Given the description of an element on the screen output the (x, y) to click on. 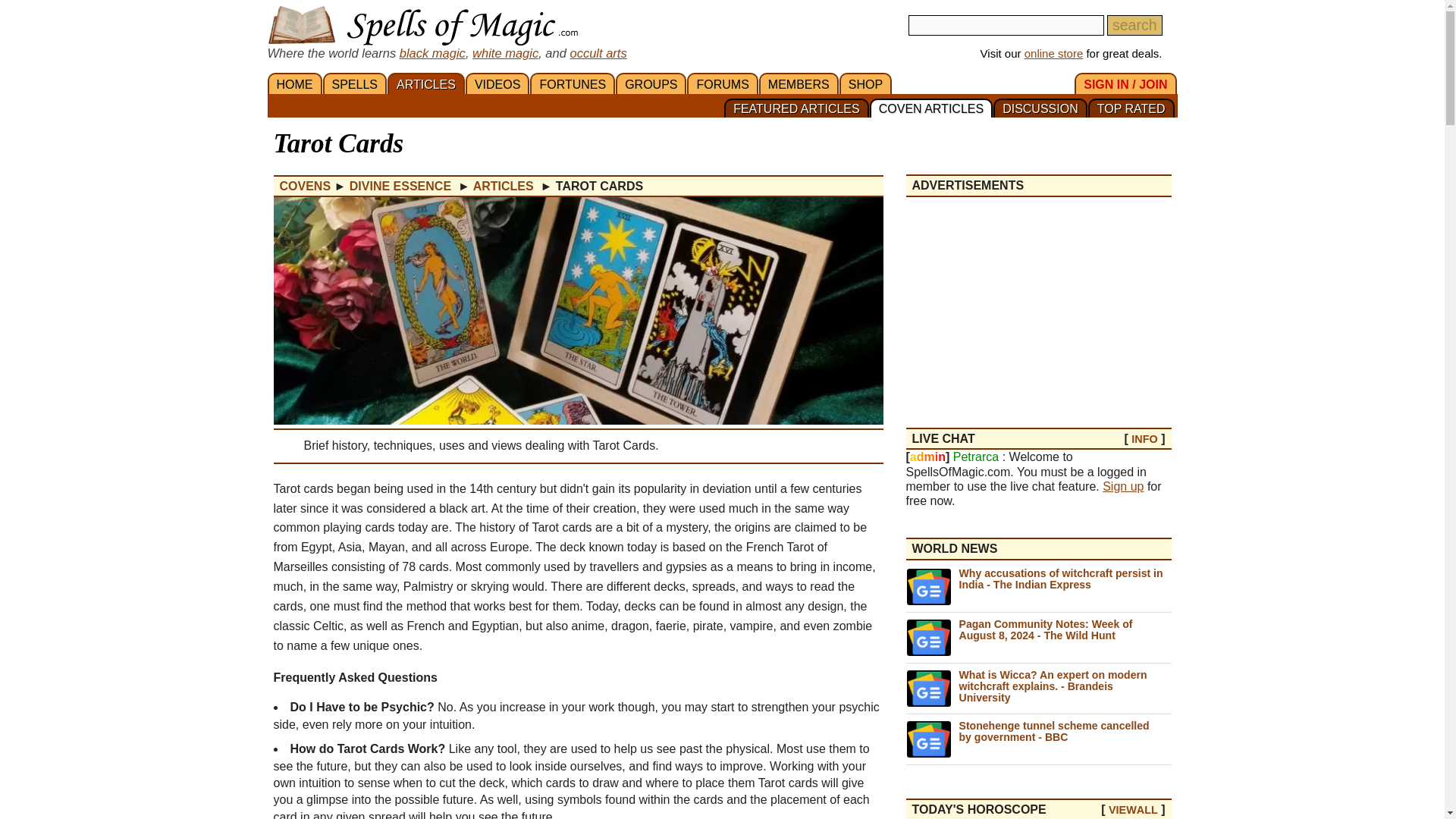
search (1133, 25)
search (1133, 25)
occult arts (597, 52)
black magic (431, 52)
white magic (504, 52)
online store (1054, 52)
